Given the description of an element on the screen output the (x, y) to click on. 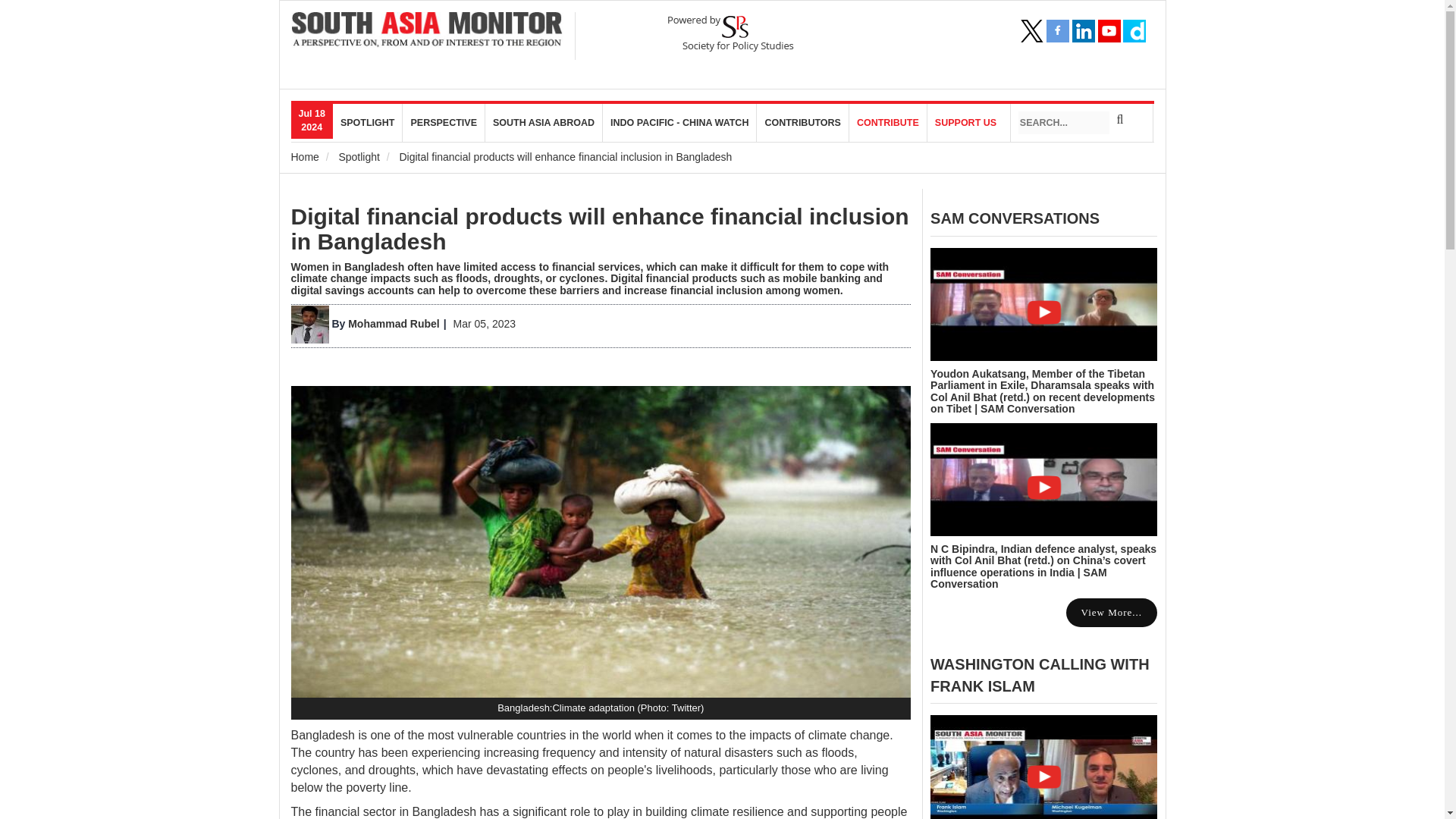
Mohammad Rubel (393, 323)
CONTRIBUTORS (802, 122)
CONTRIBUTE (887, 122)
Twitter (1031, 30)
Dailymotion (1133, 30)
Home (304, 156)
SOUTH ASIA ABROAD (543, 122)
WASHINGTON CALLING WITH FRANK ISLAM (1040, 675)
SPOTLIGHT (368, 122)
Home (427, 30)
SAM CONVERSATIONS (1014, 217)
Facebook (1057, 30)
